Given the description of an element on the screen output the (x, y) to click on. 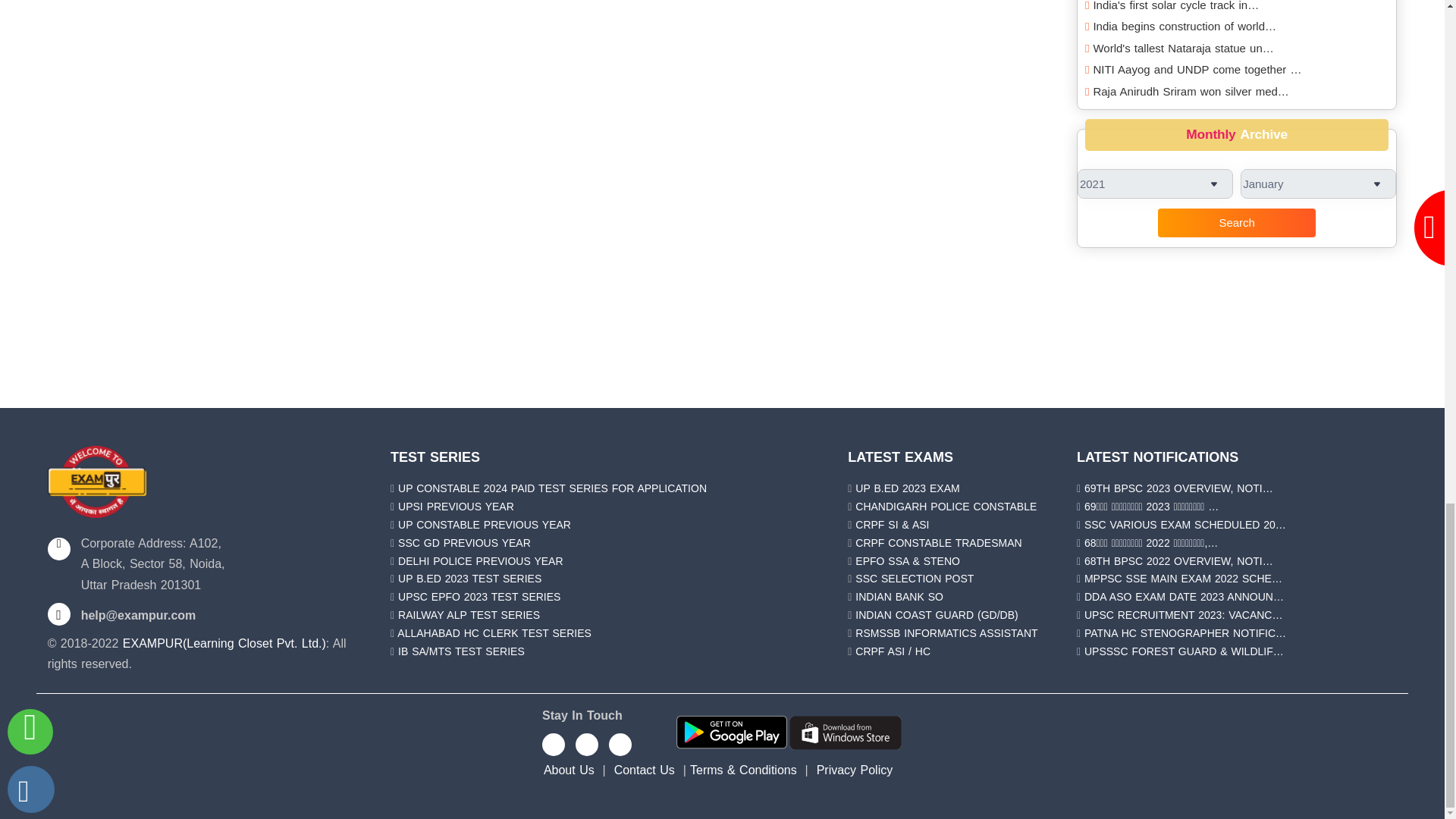
SSC VARIOUS EXAM SCHEDULED 2022: CHECK YOUR EXAM DATE HERE (1184, 524)
DDA ASO EXAM DATE 2023 ANNOUNCED: ADMIT CARD DETAILS (1184, 596)
MPPSC SSE MAIN EXAM 2022 SCHEDULE: GET YOUR ADMIT CARD (1183, 578)
